Given the description of an element on the screen output the (x, y) to click on. 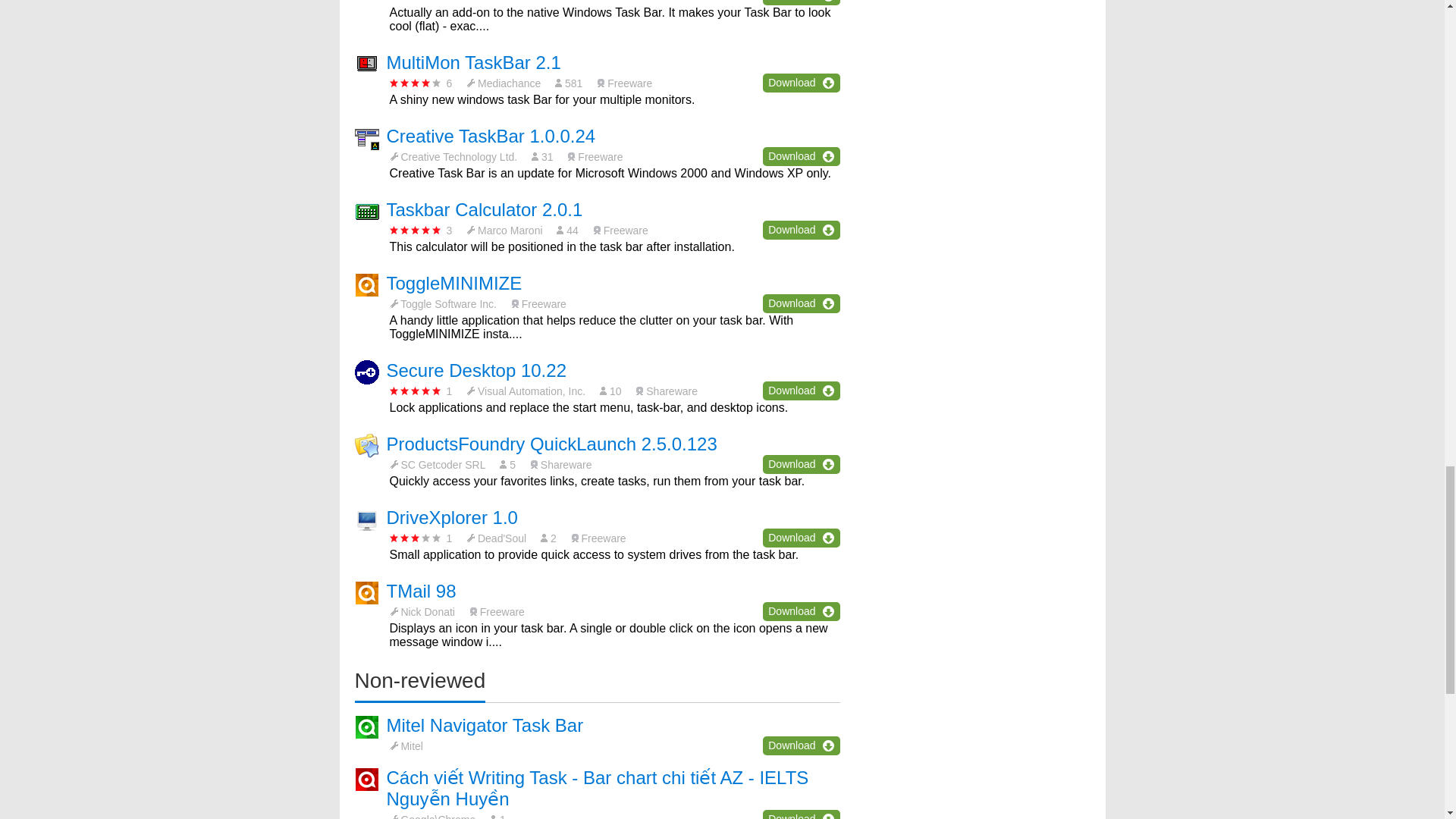
MultiMon TaskBar 2.1 (473, 62)
Download (801, 229)
Taskbar Calculator 2.0.1 (485, 209)
Download (801, 303)
Download (801, 82)
ToggleMINIMIZE (454, 282)
Download (801, 2)
MultiMon TaskBar 2.1 (473, 62)
Download (801, 156)
Creative TaskBar 1.0.0.24 (491, 136)
